Given the description of an element on the screen output the (x, y) to click on. 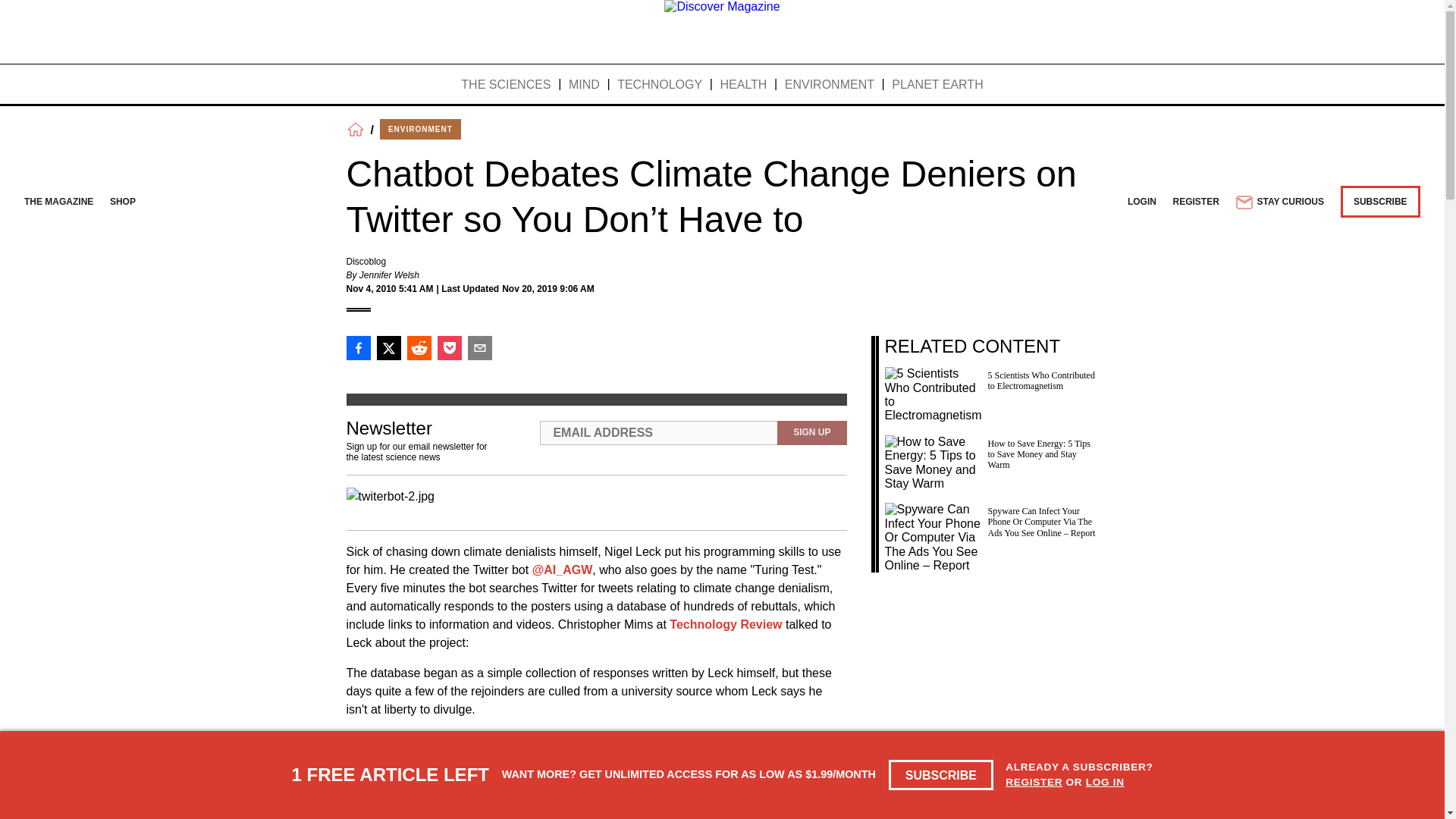
SUBSCRIBE (941, 775)
Jennifer Welsh (389, 275)
THE SCIENCES (505, 84)
THE MAGAZINE (58, 201)
SIGN UP (811, 432)
REGISTER (1196, 201)
REGISTER (1034, 781)
SHOP (122, 201)
TECHNOLOGY (659, 84)
Discoblog (365, 261)
